Given the description of an element on the screen output the (x, y) to click on. 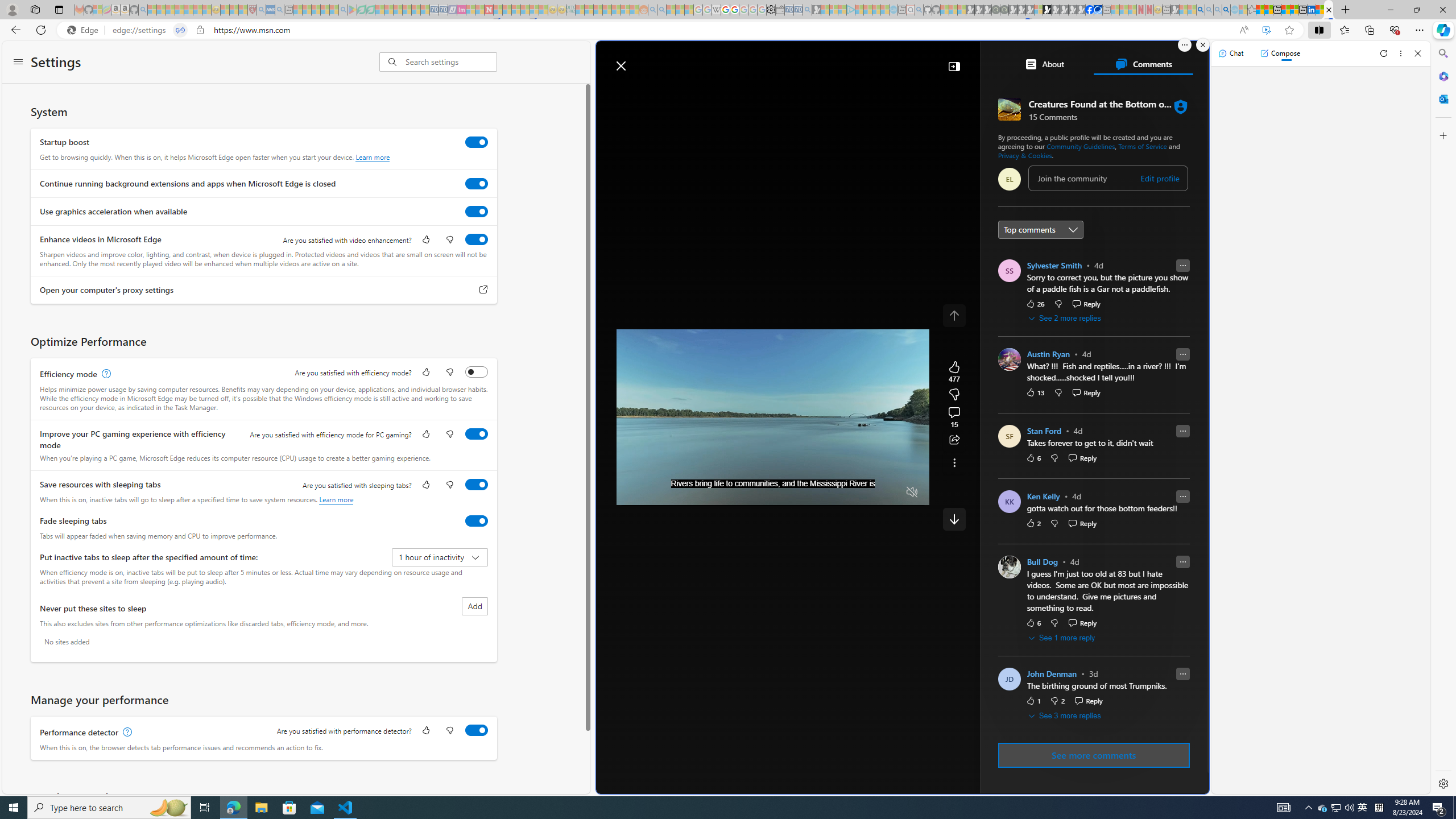
Austin Ryan (1048, 354)
Ken Kelly (1042, 496)
See 3 more replies (1065, 715)
Open your computer's proxy settings (483, 290)
Google Chrome Internet Browser Download - Search Images (1225, 9)
